Given the description of an element on the screen output the (x, y) to click on. 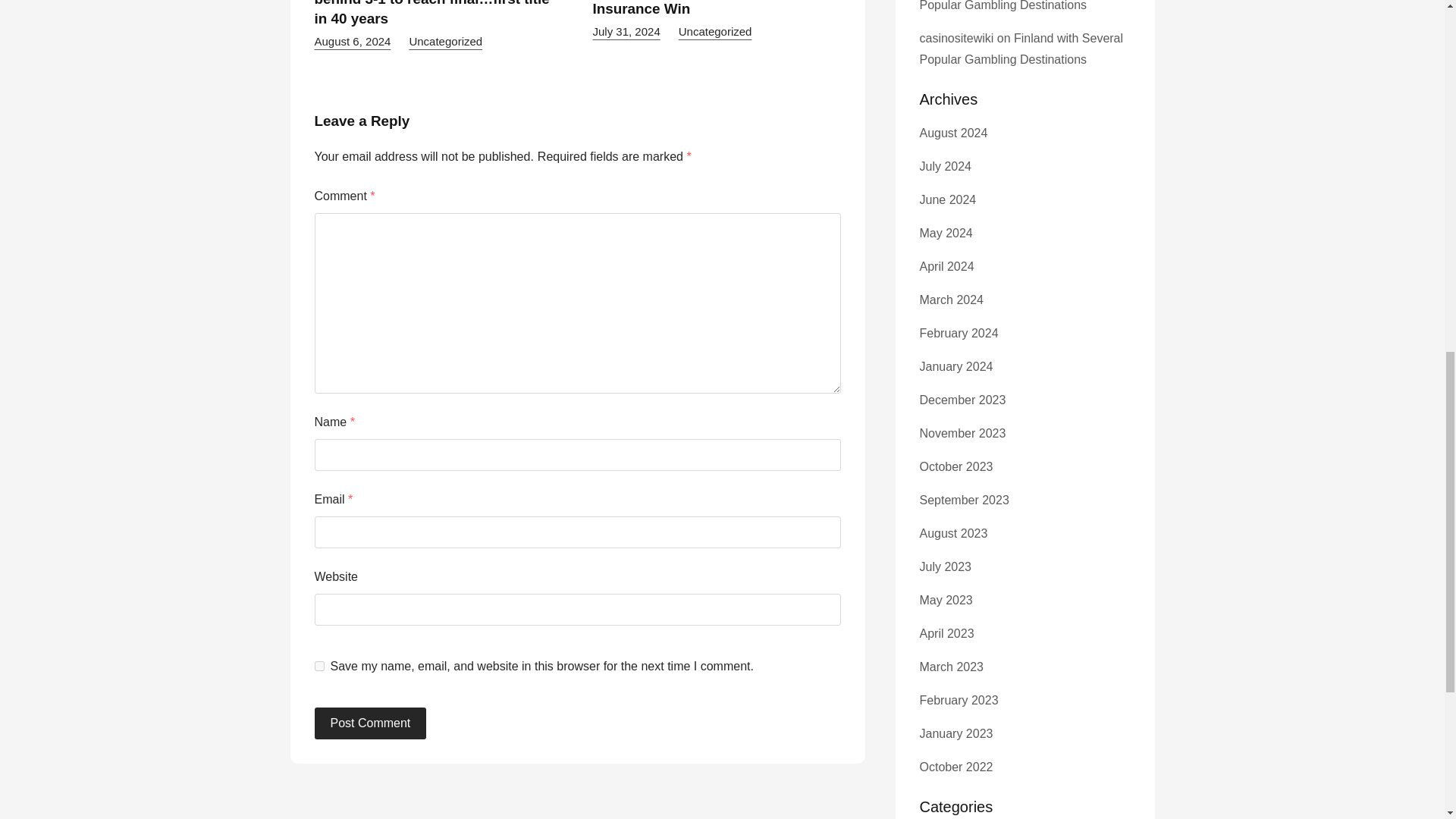
yes (318, 665)
Uncategorized (715, 31)
Womens Basketball Samsung Life Insurance Win (708, 7)
Post Comment (370, 723)
August 6, 2024 (352, 41)
July 31, 2024 (626, 31)
Uncategorized (445, 41)
Post Comment (370, 723)
